Given the description of an element on the screen output the (x, y) to click on. 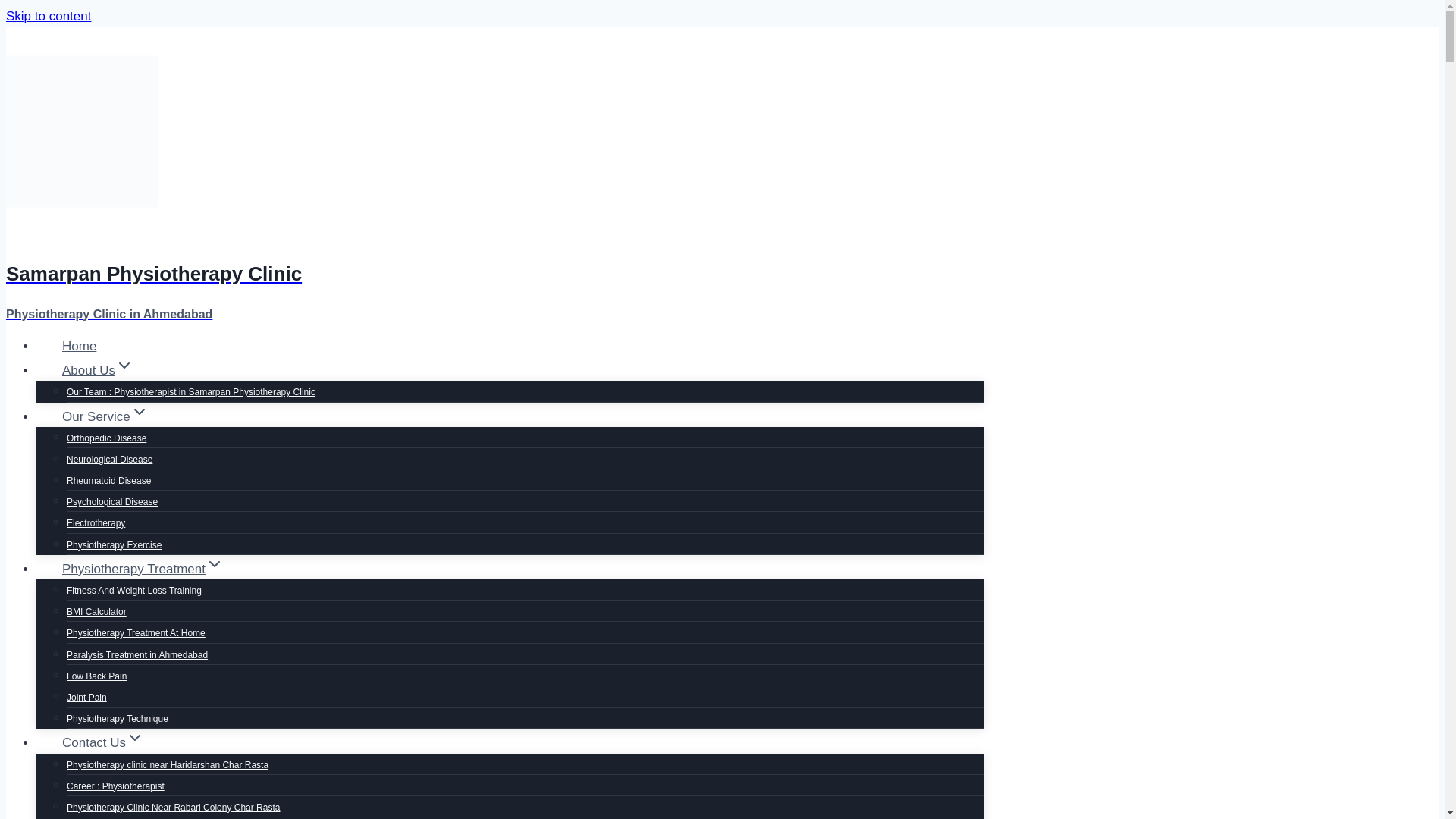
Physiotherapy Exercise (113, 544)
Expand (124, 365)
About UsExpand (97, 370)
Neurological Disease (109, 459)
Physiotherapy Treatment At Home (135, 633)
Paralysis Treatment in Ahmedabad (137, 654)
Expand (214, 564)
Physiotherapy TreatmentExpand (142, 568)
Physiotherapy clinic near Haridarshan Char Rasta (166, 765)
